Given the description of an element on the screen output the (x, y) to click on. 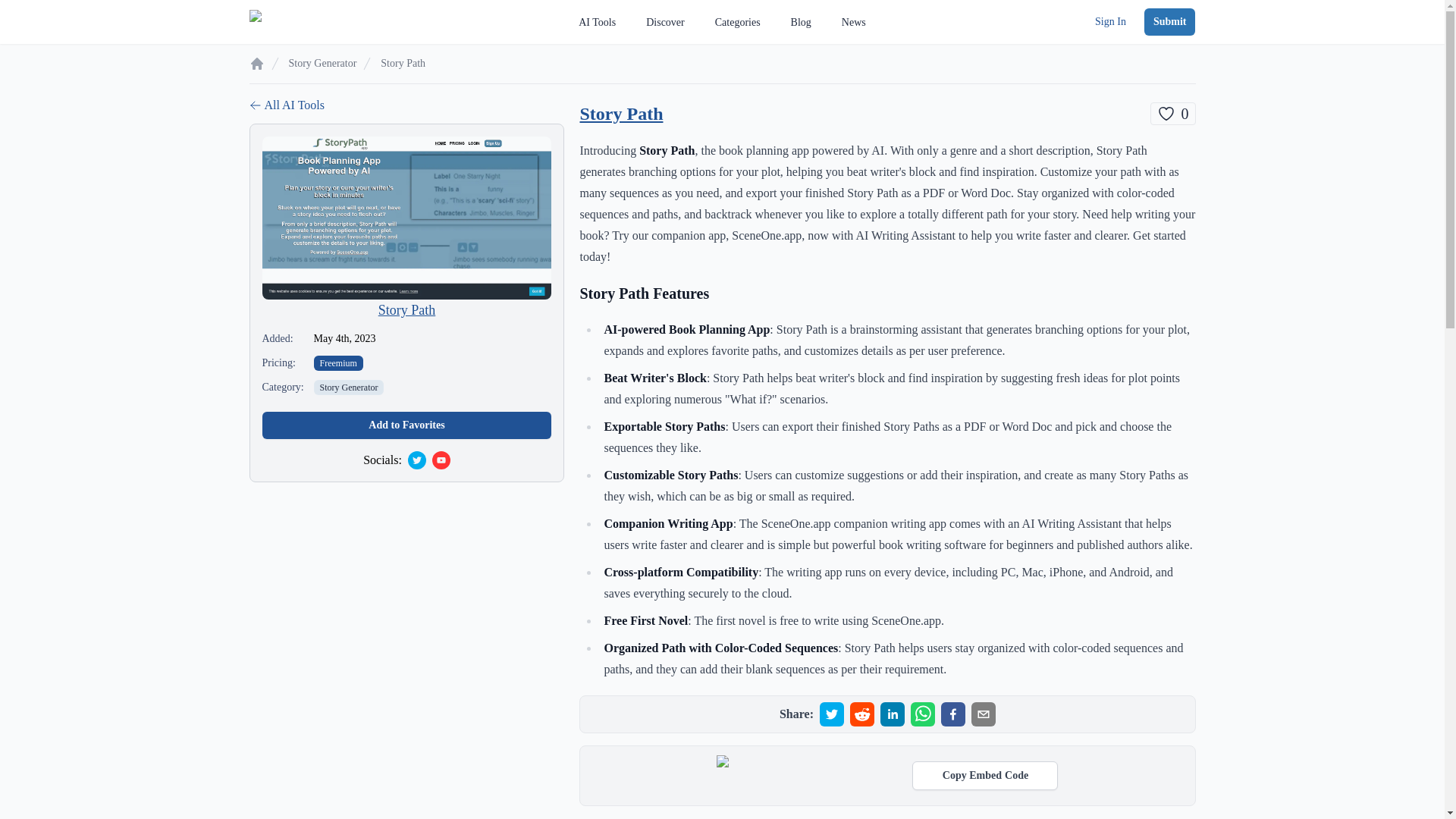
Story Path (985, 775)
Blog (406, 309)
0 (800, 21)
Add to Favorites (1172, 113)
Story Generator (406, 424)
Check out Story Path on AI Showcase! (349, 387)
Story Path (952, 713)
All AI Tools (620, 113)
Categories (406, 105)
Discover (736, 21)
News (665, 21)
Submit (853, 21)
AI Tools (1169, 22)
Story Generator (596, 21)
